Given the description of an element on the screen output the (x, y) to click on. 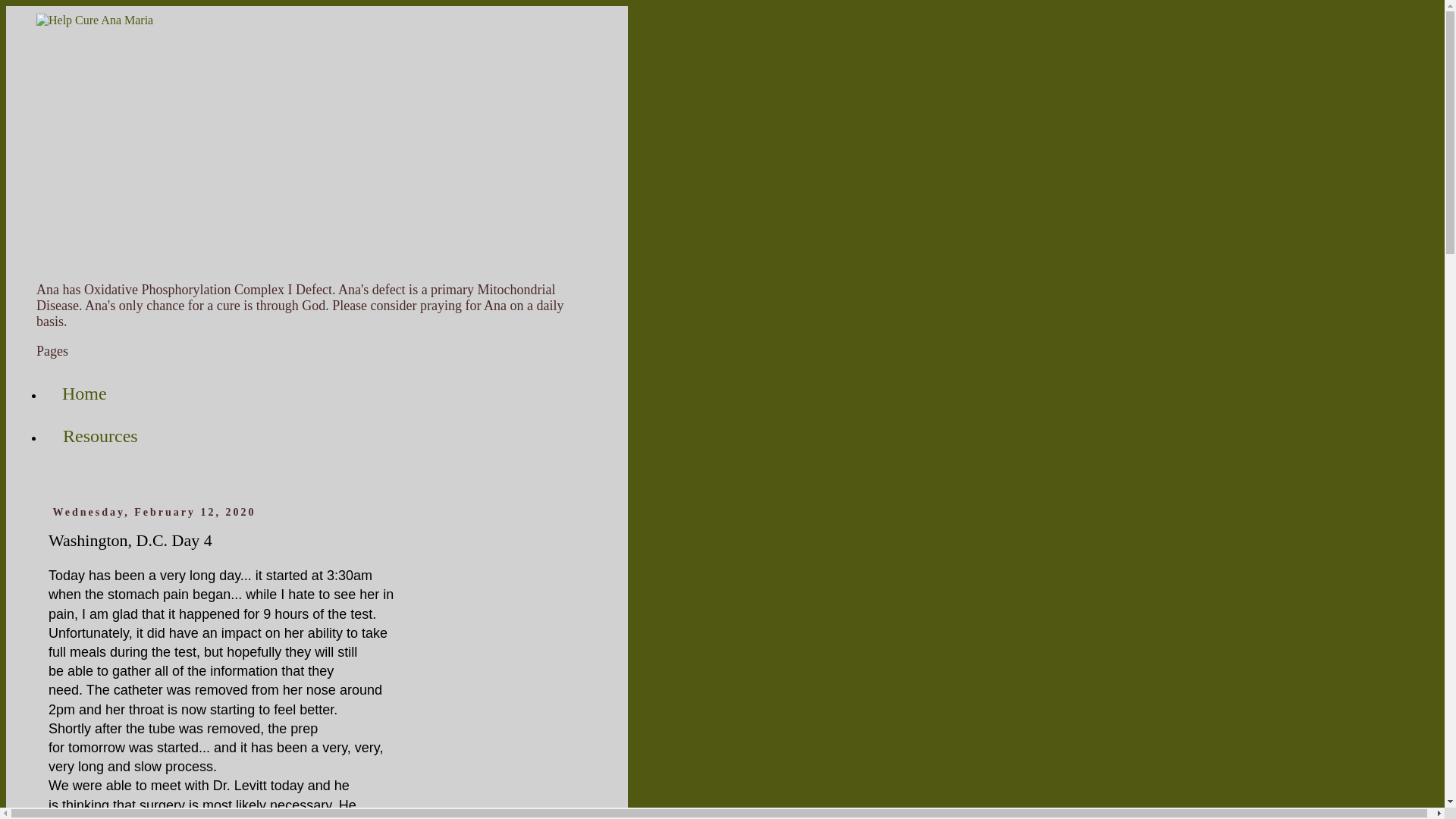
Home (84, 394)
Resources (100, 436)
